Given the description of an element on the screen output the (x, y) to click on. 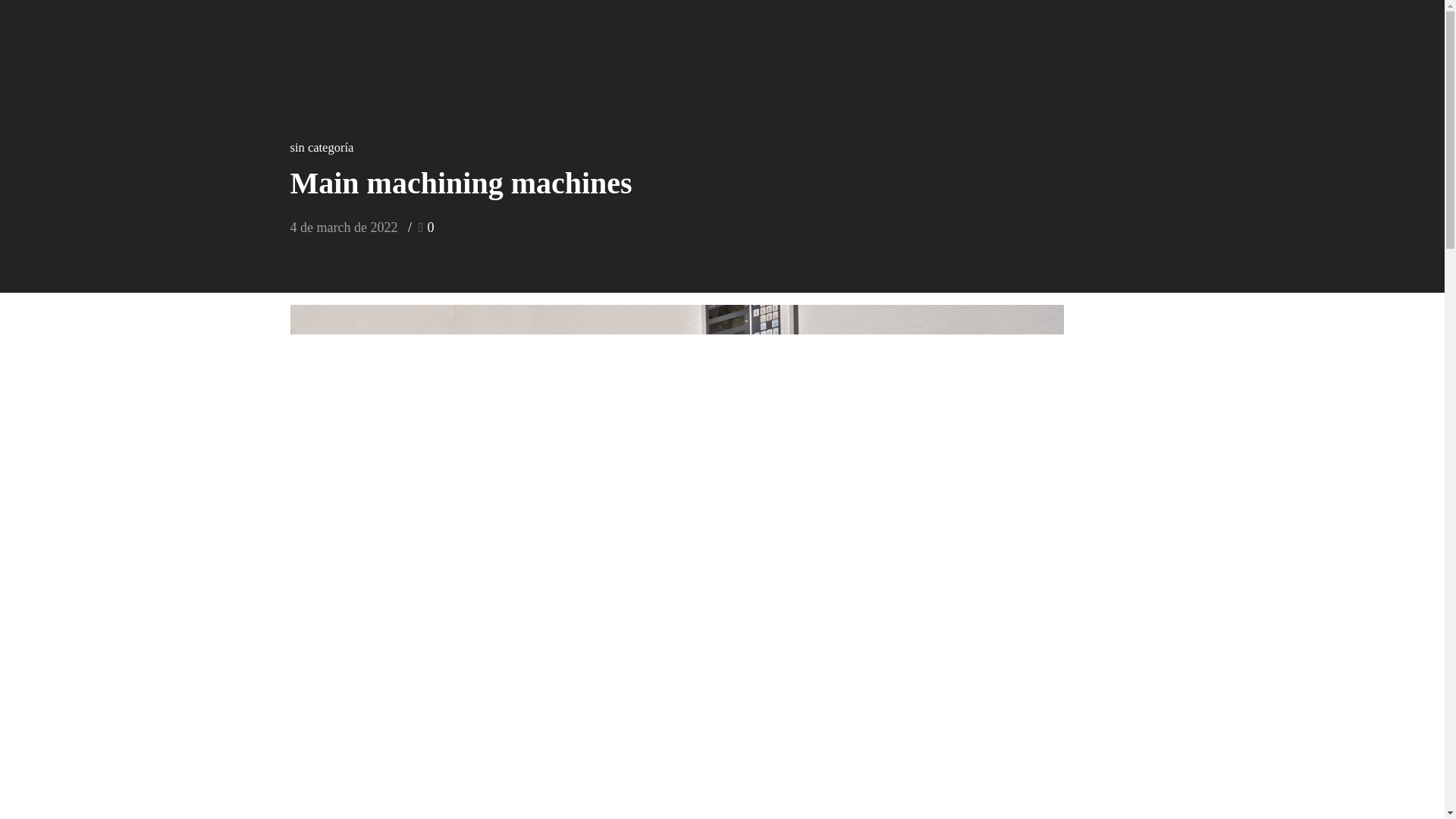
0 (426, 227)
